Given the description of an element on the screen output the (x, y) to click on. 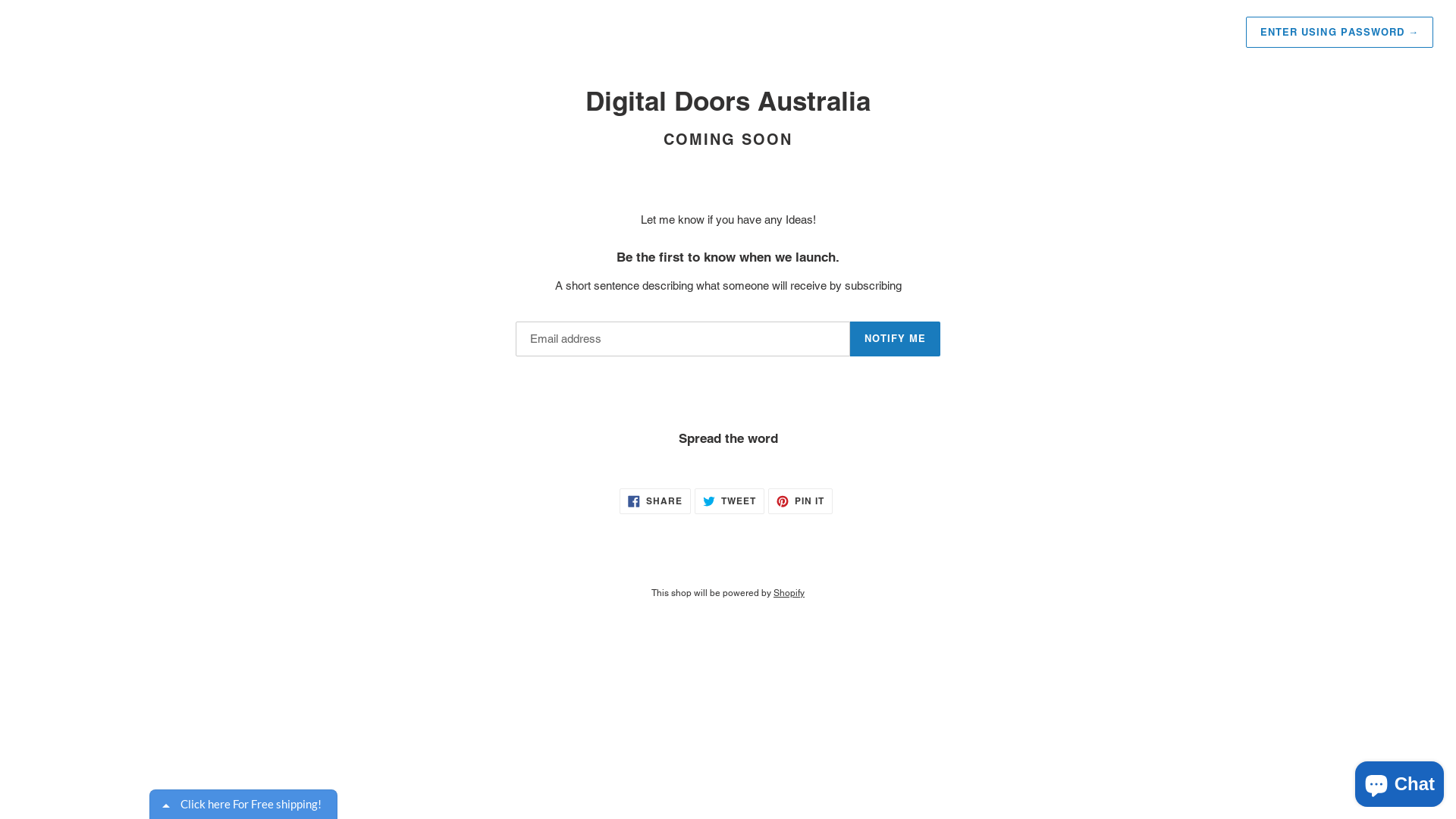
Shopify Element type: text (788, 592)
SHARE
SHARE ON FACEBOOK Element type: text (654, 501)
Shopify online store chat Element type: hover (1399, 780)
TWEET
TWEET ON TWITTER Element type: text (729, 501)
PIN IT
PIN ON PINTEREST Element type: text (800, 501)
NOTIFY ME Element type: text (895, 338)
